Given the description of an element on the screen output the (x, y) to click on. 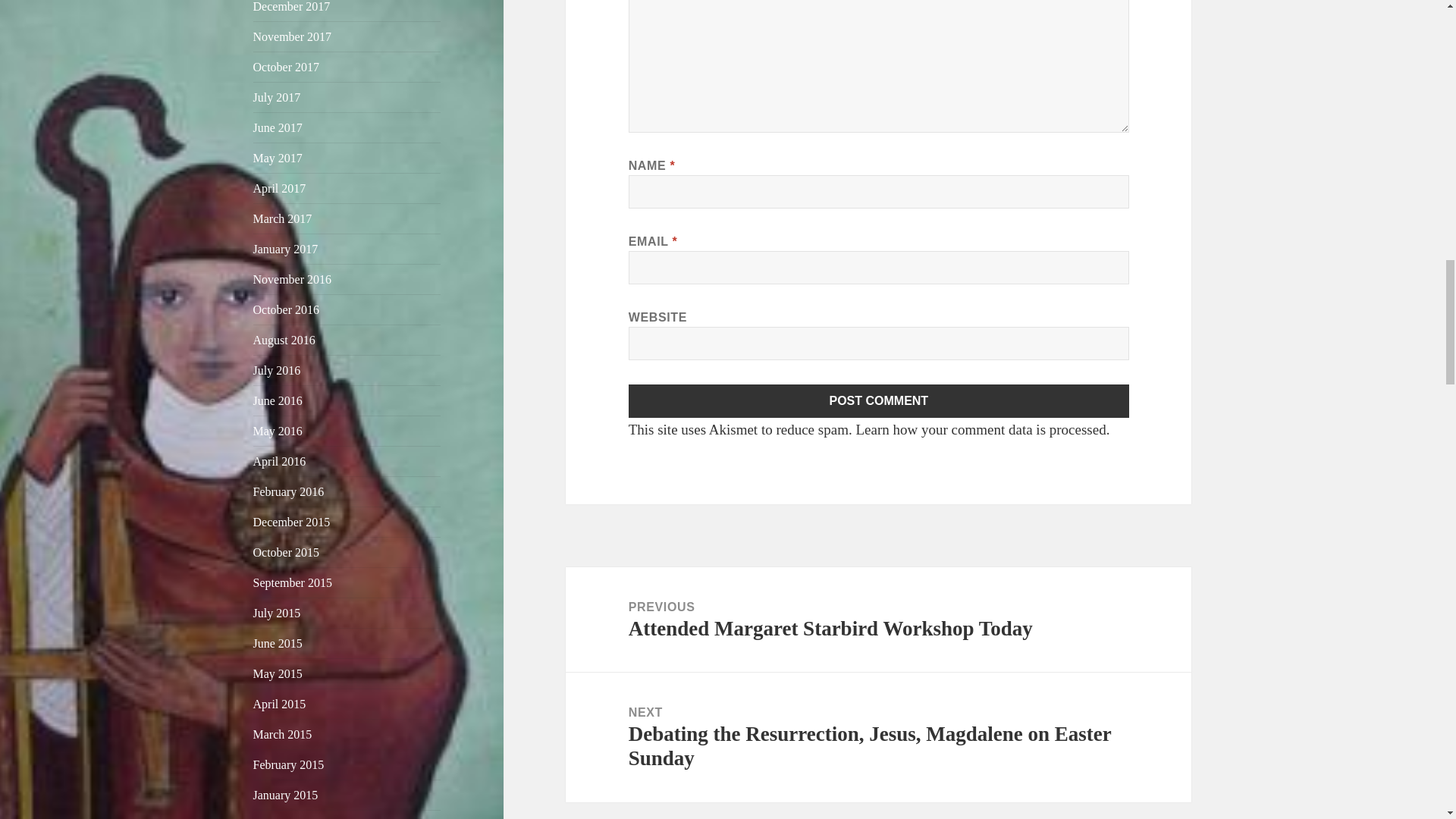
Post Comment (878, 400)
November 2017 (292, 36)
December 2017 (291, 6)
October 2017 (286, 66)
